Given the description of an element on the screen output the (x, y) to click on. 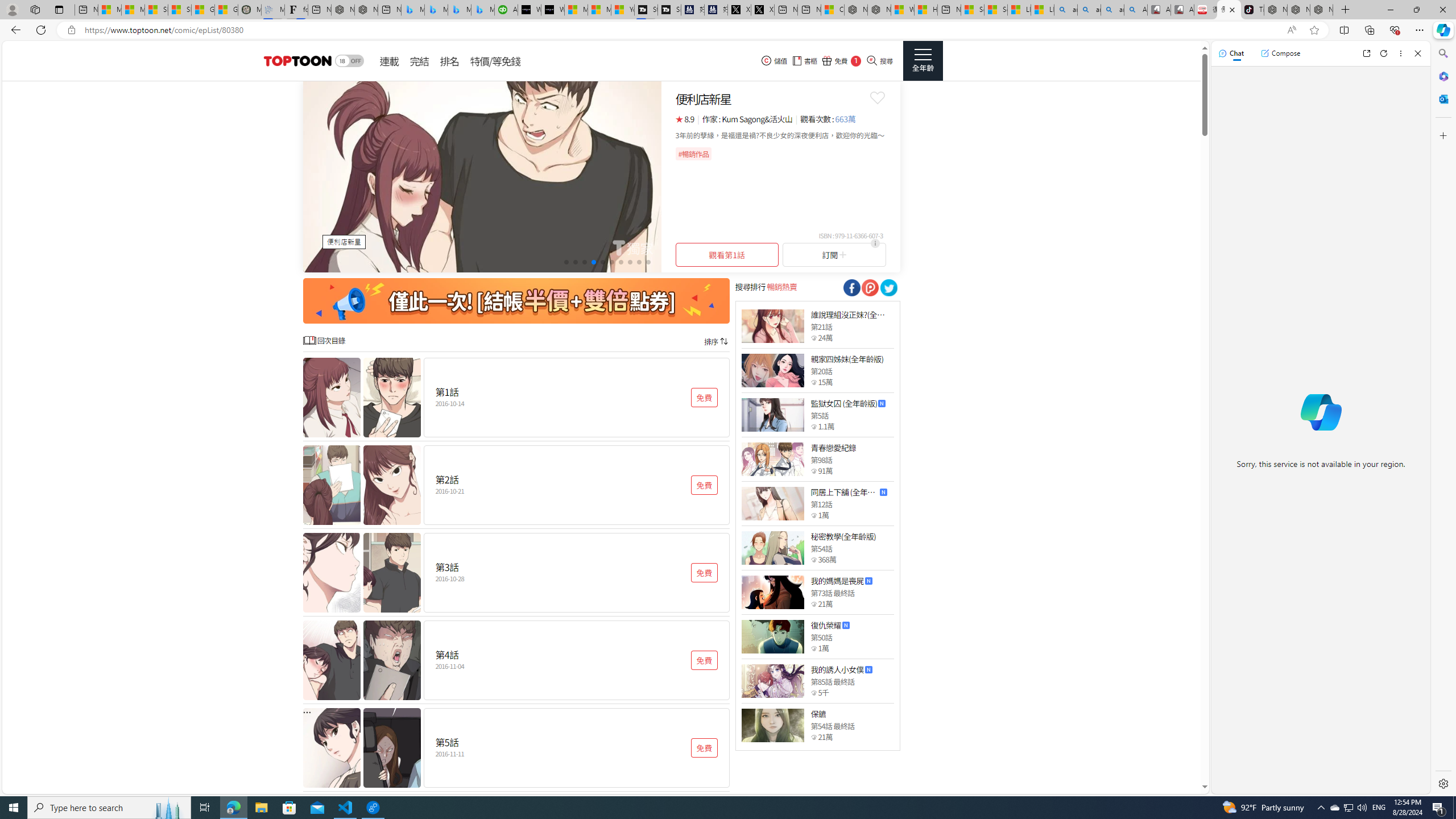
Tab actions menu (58, 9)
Go to slide 2 (575, 261)
Class: swiper-slide swiper-slide-active (481, 176)
Class: swiper-slide (481, 176)
Back (13, 29)
Customize (1442, 135)
Read aloud this page (Ctrl+Shift+U) (1291, 29)
Nordace Siena Pro 15 Backpack (1298, 9)
Microsoft Bing Travel - Shangri-La Hotel Bangkok (482, 9)
